Given the description of an element on the screen output the (x, y) to click on. 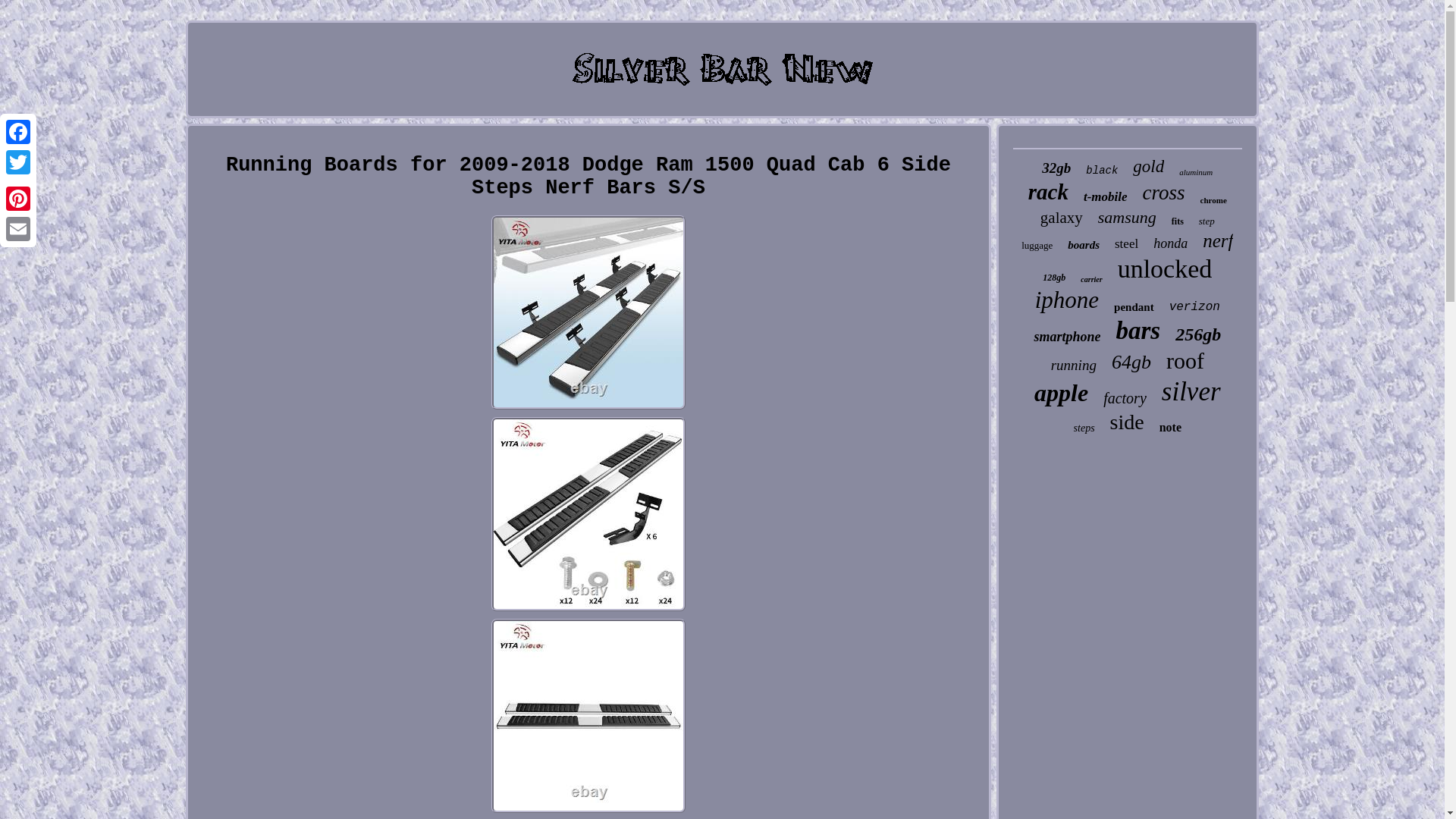
Twitter (17, 162)
Facebook (17, 132)
luggage (1037, 245)
pendant (1133, 307)
bars (1137, 330)
black (1102, 170)
Email (17, 228)
aluminum (1195, 171)
samsung (1126, 217)
64gb (1131, 362)
